Given the description of an element on the screen output the (x, y) to click on. 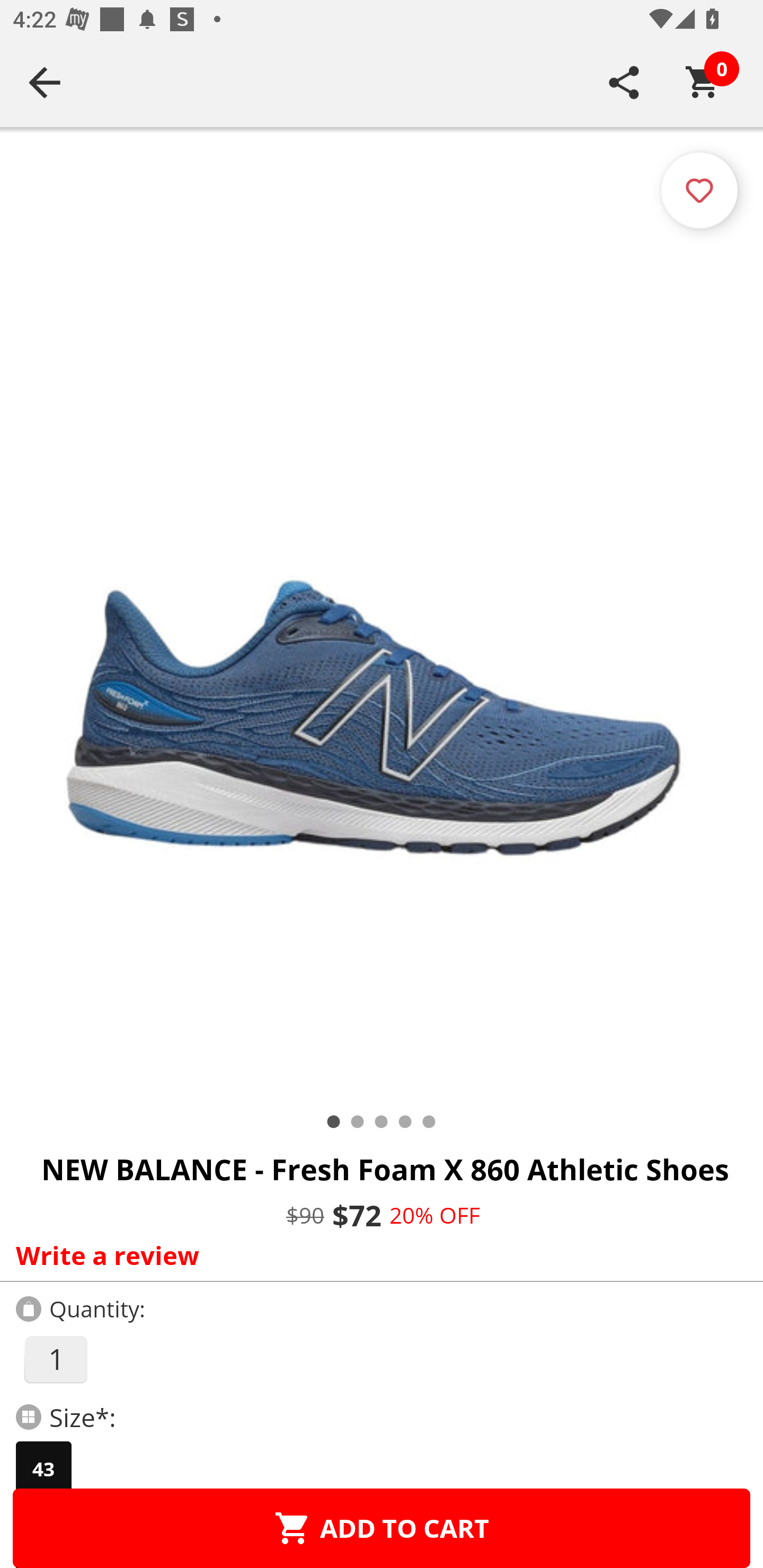
Navigate up (44, 82)
SHARE (623, 82)
Cart (703, 81)
Write a review (377, 1255)
1 (55, 1358)
43 (43, 1468)
ADD TO CART (381, 1528)
